Given the description of an element on the screen output the (x, y) to click on. 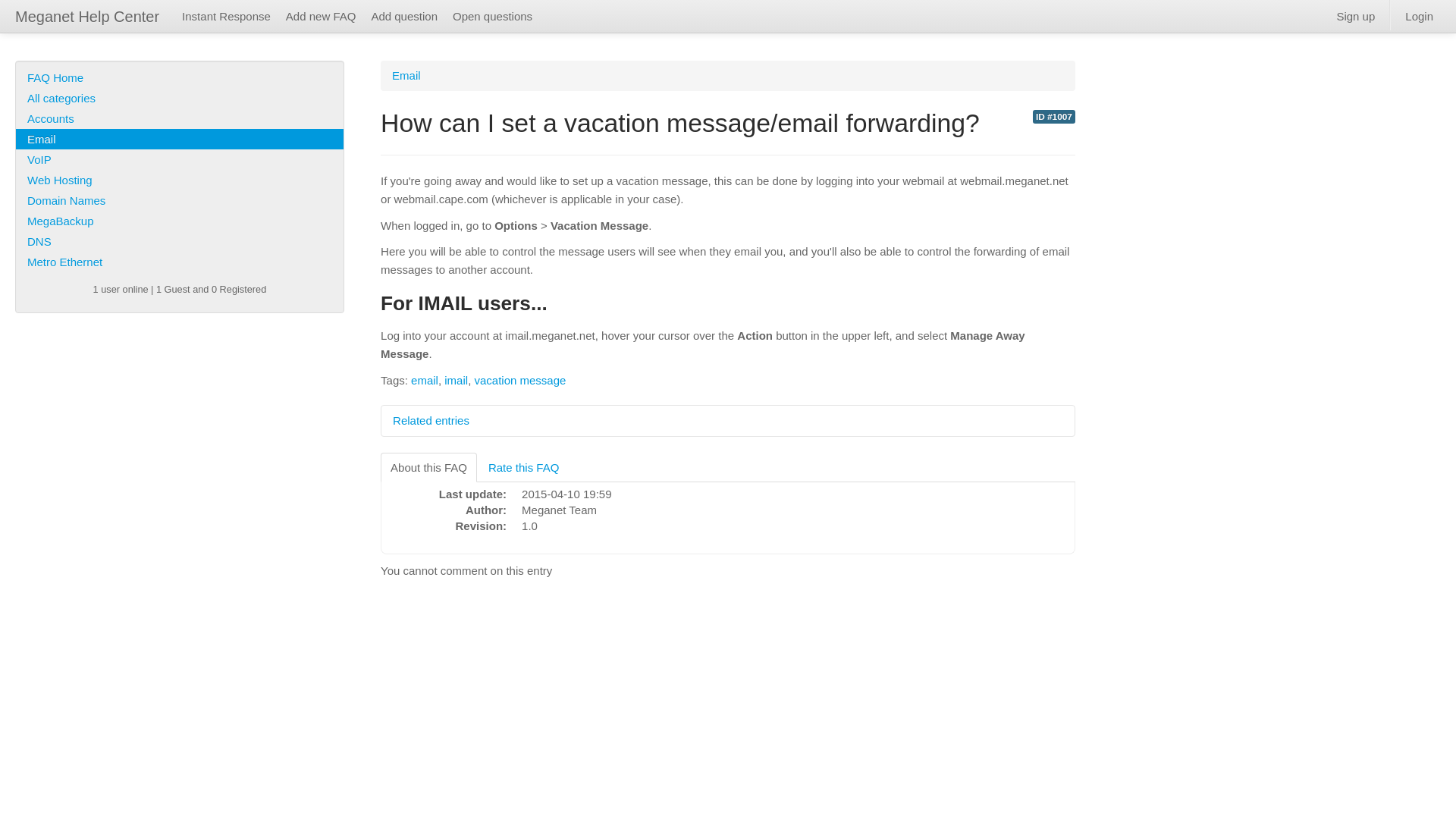
About this FAQ (428, 466)
Instant Response (226, 15)
Web Hosting (179, 179)
FAQ Home (179, 77)
Domain Names (179, 200)
Meganet Help Center (87, 16)
Accounts (179, 118)
Items related to domain names. (179, 200)
Add question (403, 15)
imail (455, 379)
email (424, 379)
Login (1419, 15)
vacation message (520, 379)
Email (179, 138)
Open questions (492, 15)
